Given the description of an element on the screen output the (x, y) to click on. 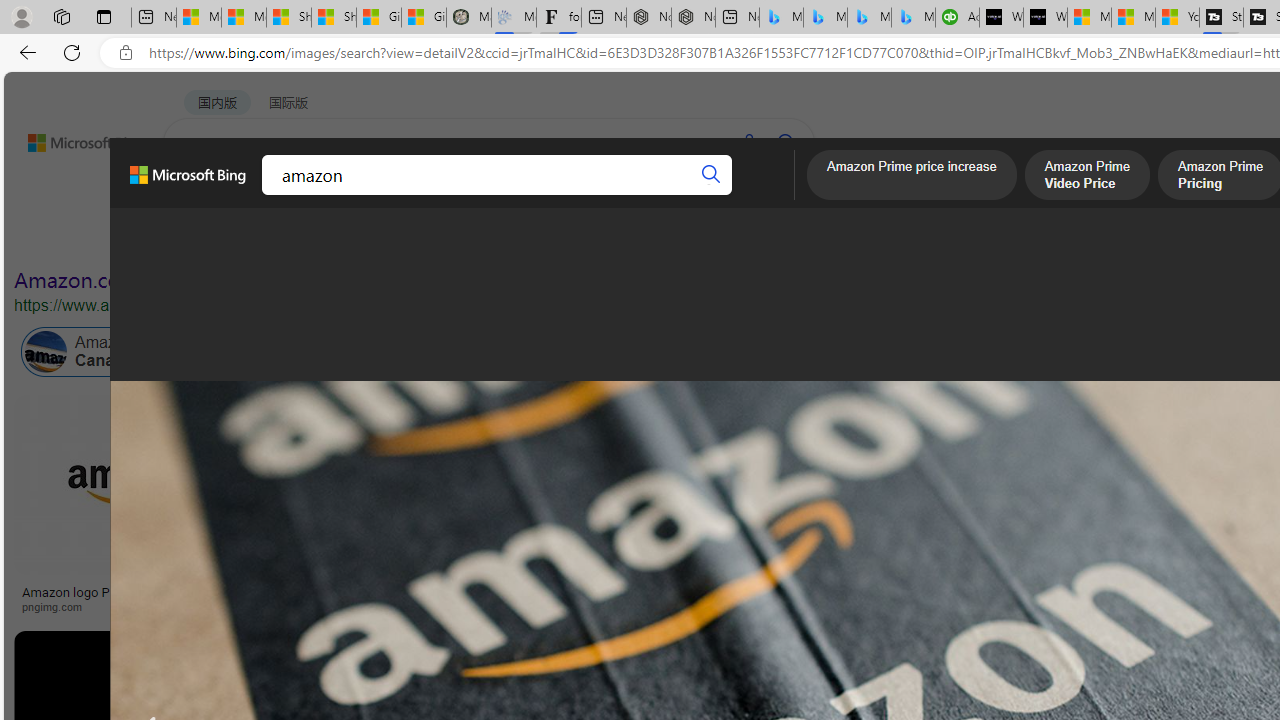
pngimg.com (58, 605)
Class: b_pri_nav_svg (336, 196)
Echo Dot 4th Gen (1183, 465)
usatoday.com (587, 605)
DICT (630, 195)
usatoday.com (710, 606)
What's the best AI voice generator? - voice.ai (1045, 17)
Amazon Prime Online (241, 351)
VIDEOS (458, 195)
Kindle Paperwhite Case (1183, 524)
License (665, 237)
mytotalretail.com (396, 606)
MAPS (698, 195)
